Given the description of an element on the screen output the (x, y) to click on. 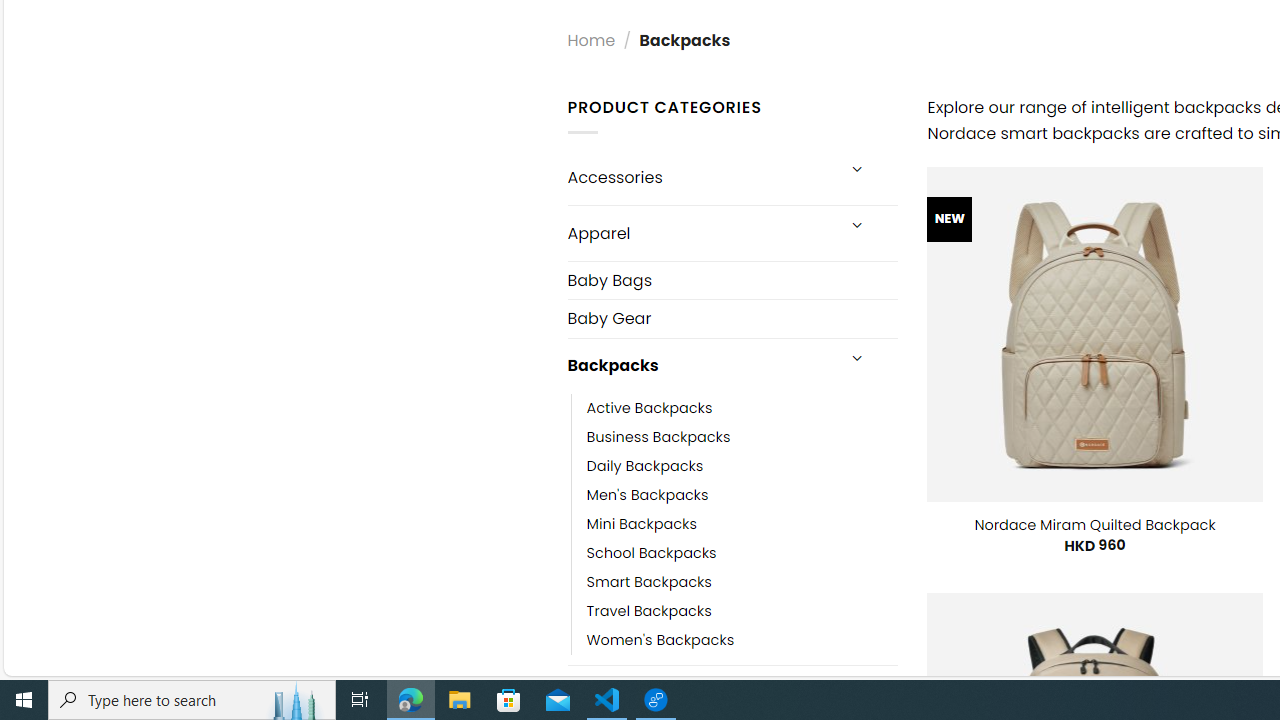
Men's Backpacks (742, 494)
Smart Backpacks (742, 581)
Nordace Miram Quilted Backpack (1095, 524)
Baby Gear (732, 317)
Home (591, 39)
School Backpacks (742, 552)
Baby Gear (732, 318)
Smart Backpacks (648, 581)
Travel Backpacks (742, 610)
Baby Bags (732, 279)
Active Backpacks (649, 408)
Accessories (700, 177)
Daily Backpacks (742, 465)
